Given the description of an element on the screen output the (x, y) to click on. 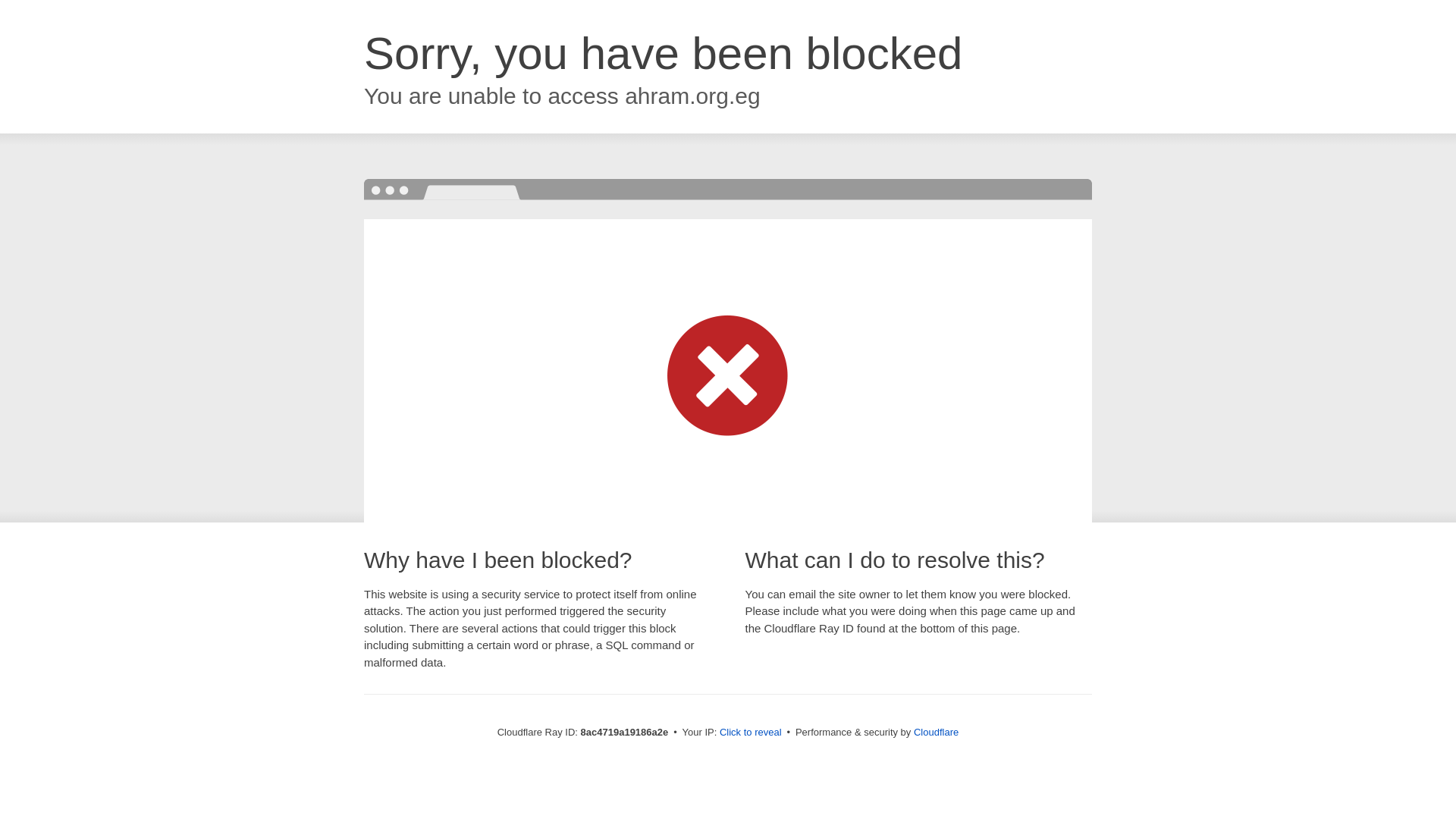
Cloudflare (936, 731)
Click to reveal (750, 732)
